Given the description of an element on the screen output the (x, y) to click on. 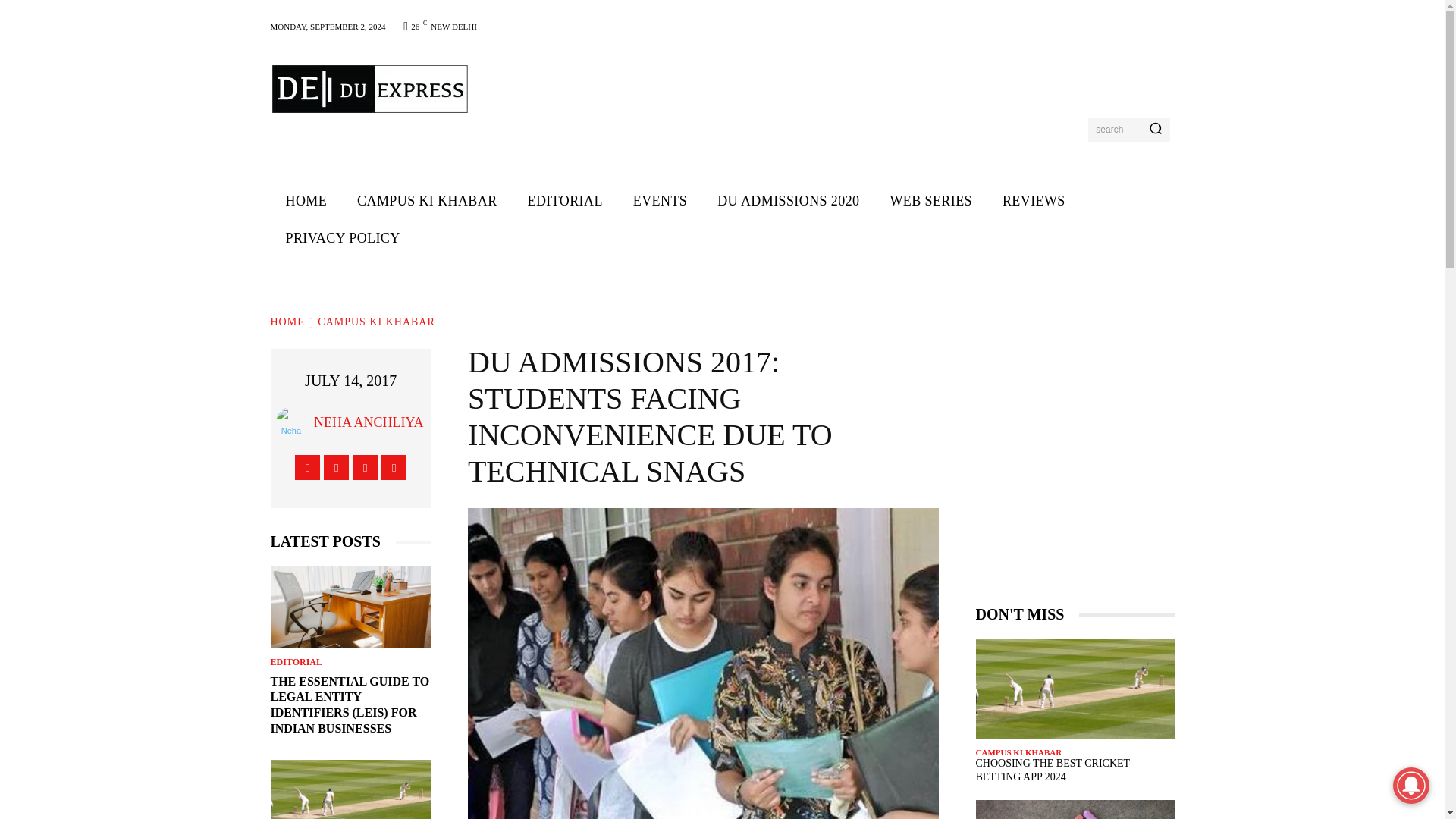
Facebook (307, 467)
EVENTS (659, 201)
View all posts in Campus Ki Khabar (375, 321)
HOME (286, 321)
Choosing the best cricket betting app 2024 (349, 789)
Instagram (336, 467)
Neha Anchliya (295, 422)
Twitter (364, 467)
WEB SERIES (931, 201)
EDITORIAL (564, 201)
